Given the description of an element on the screen output the (x, y) to click on. 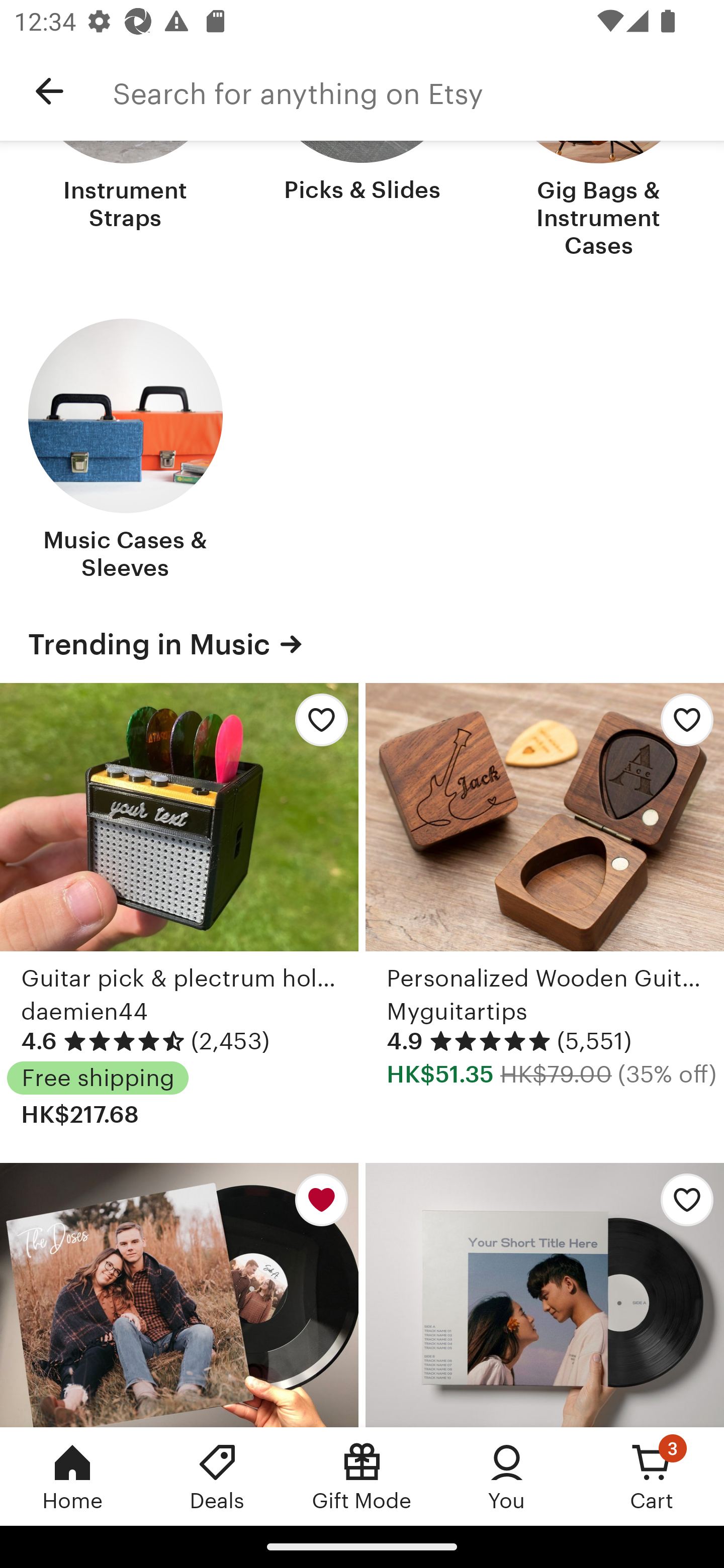
Navigate up (49, 91)
Search for anything on Etsy (418, 91)
Instrument Straps (125, 201)
Picks & Slides (361, 201)
Gig Bags & Instrument Cases (598, 201)
Music Cases & Sleeves (125, 451)
Trending in Music  (361, 644)
Deals (216, 1475)
Gift Mode (361, 1475)
You (506, 1475)
Cart, 3 new notifications Cart (651, 1475)
